Given the description of an element on the screen output the (x, y) to click on. 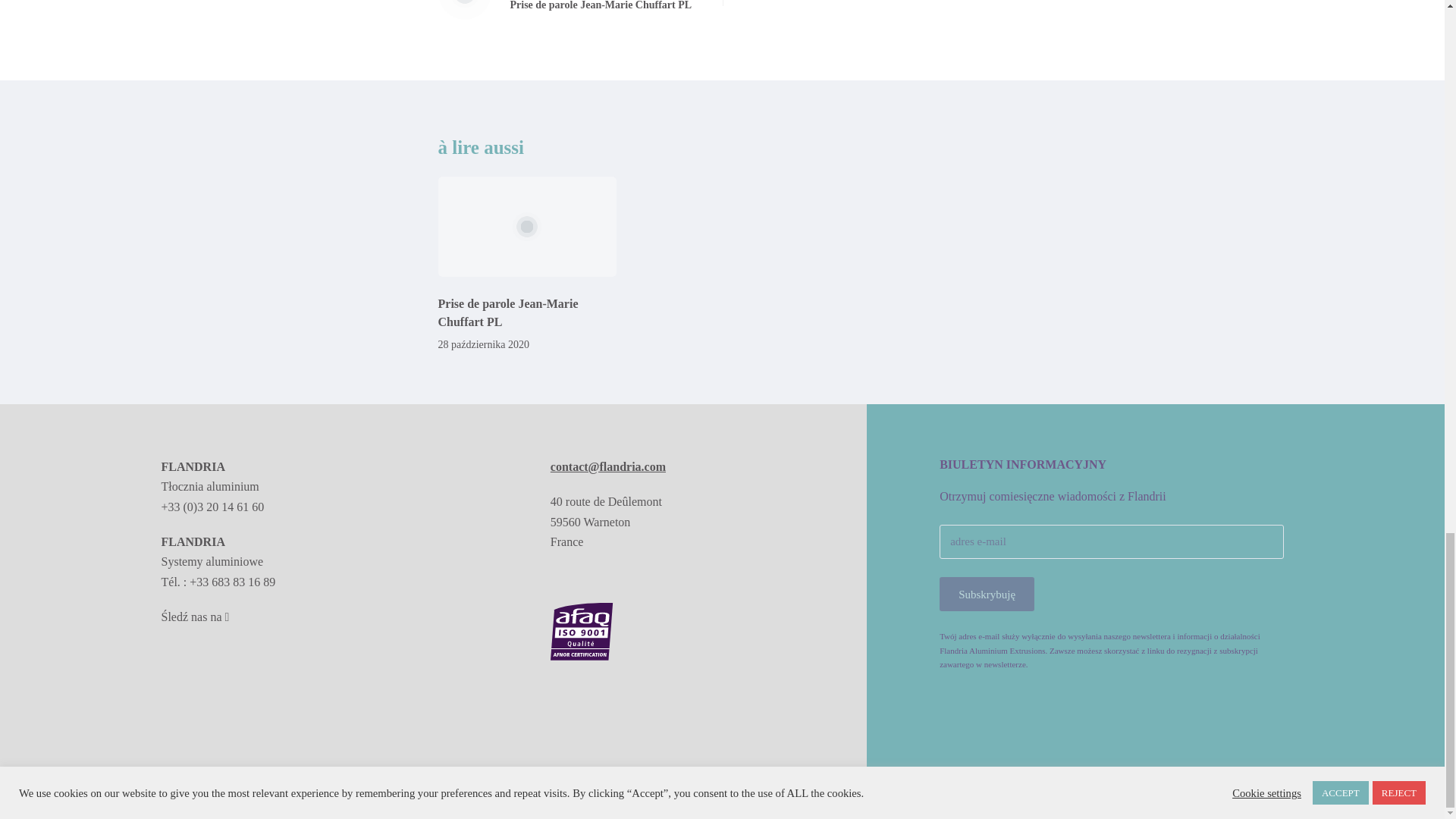
NOTA PRAWNA (569, 9)
Prise de parole Jean-Marie Chuffart PL (194, 794)
MADE BY CAD (508, 312)
